Given the description of an element on the screen output the (x, y) to click on. 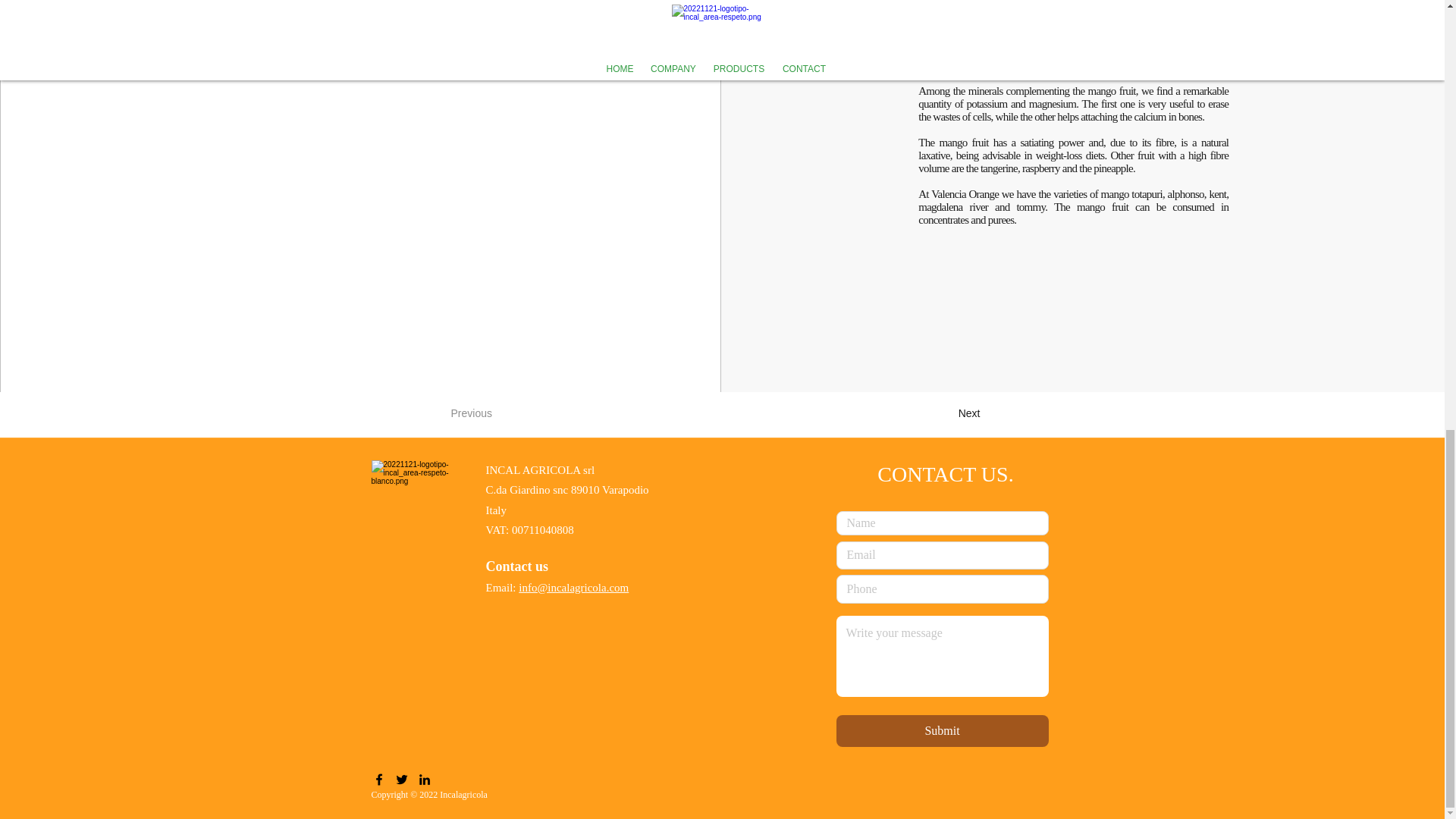
Next (941, 413)
Submit (941, 730)
Previous (499, 413)
